Given the description of an element on the screen output the (x, y) to click on. 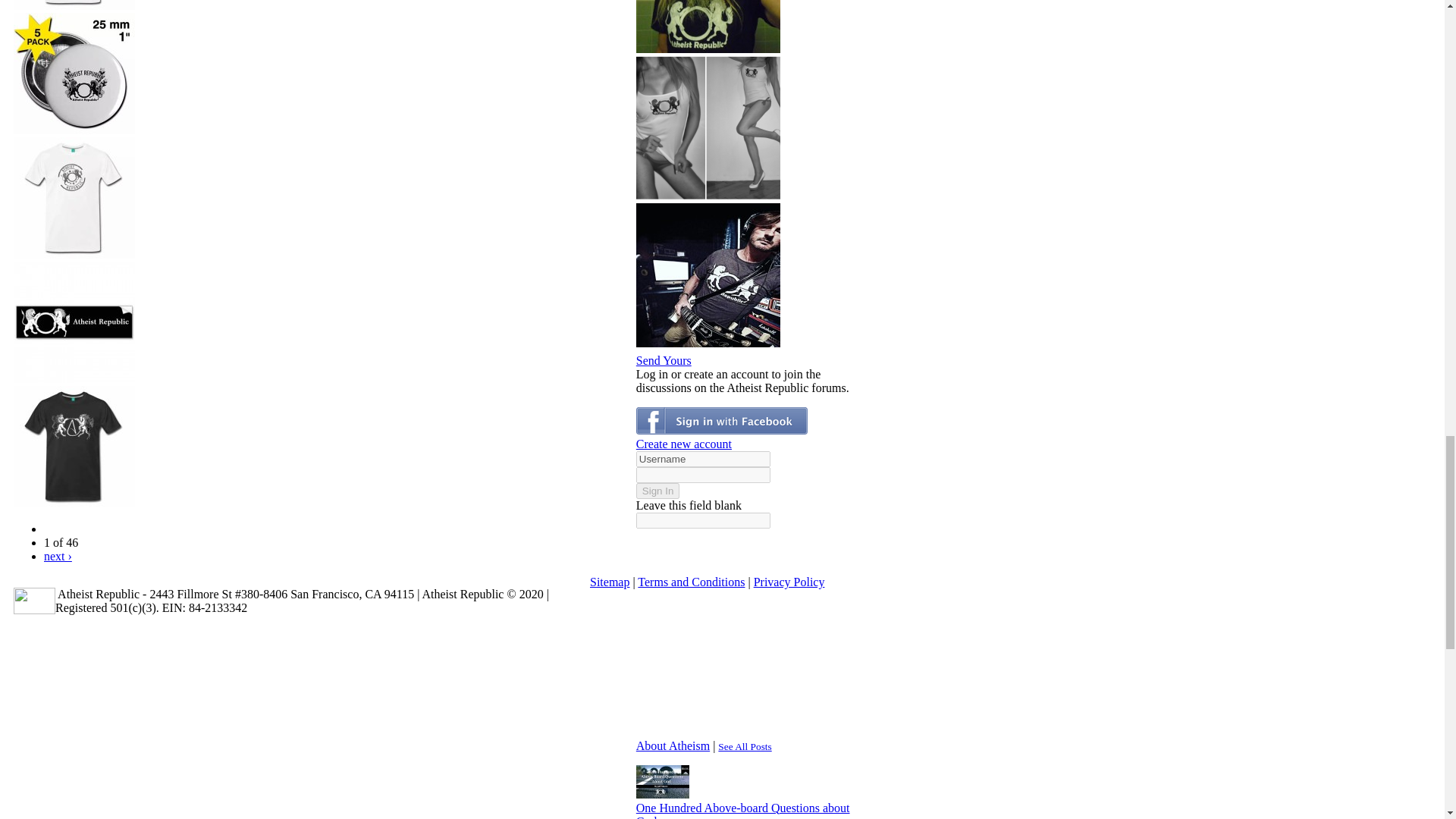
Username (703, 458)
Create new account (684, 442)
Sign In (657, 489)
Go to next page (57, 555)
